Given the description of an element on the screen output the (x, y) to click on. 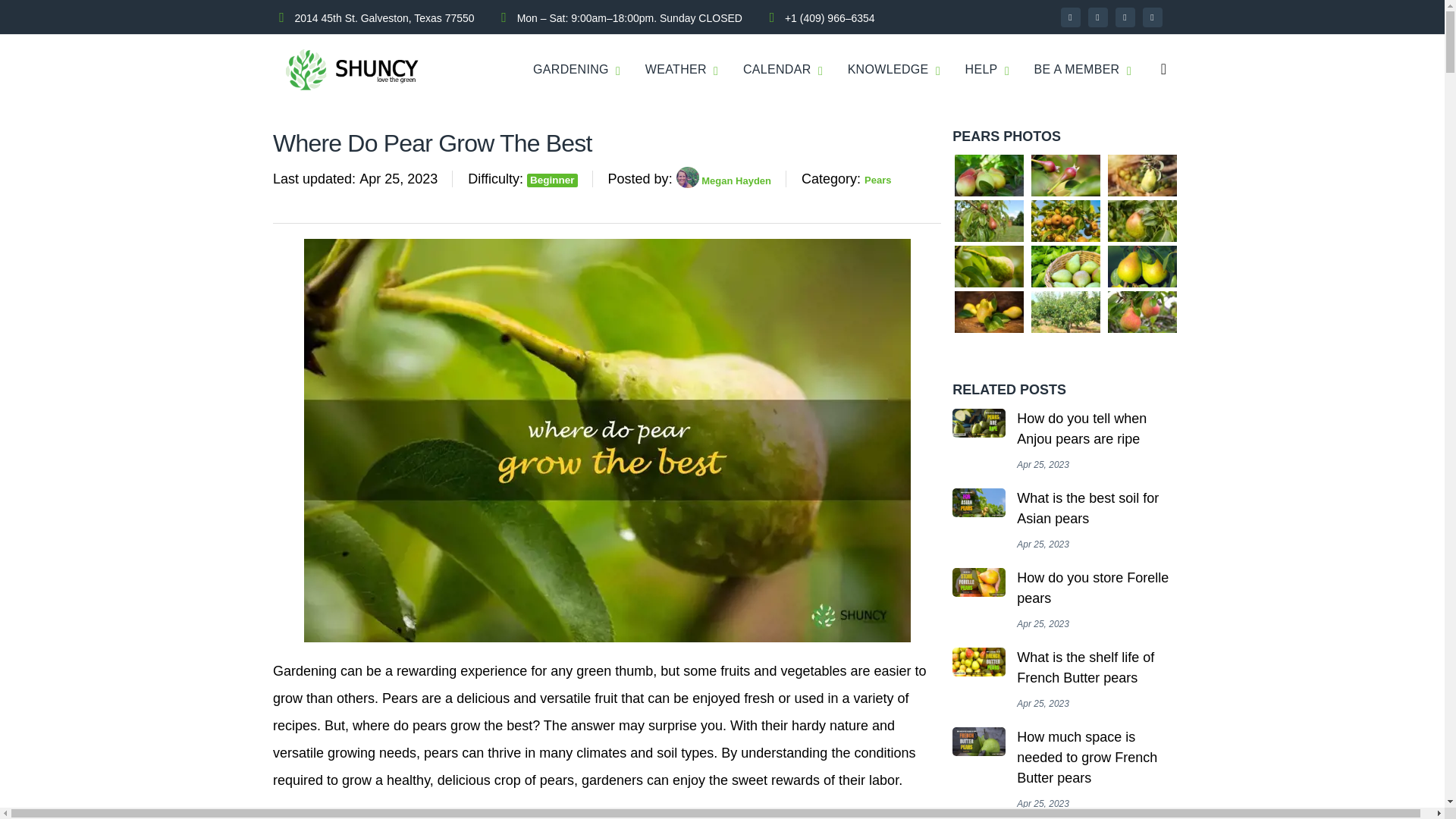
CALENDAR (776, 69)
2014 45th St. Galveston, Texas 77550 (384, 18)
GARDENING (570, 69)
KNOWLEDGE (887, 69)
WEATHER (675, 69)
BE A MEMBER (1076, 69)
HELP (981, 69)
